Given the description of an element on the screen output the (x, y) to click on. 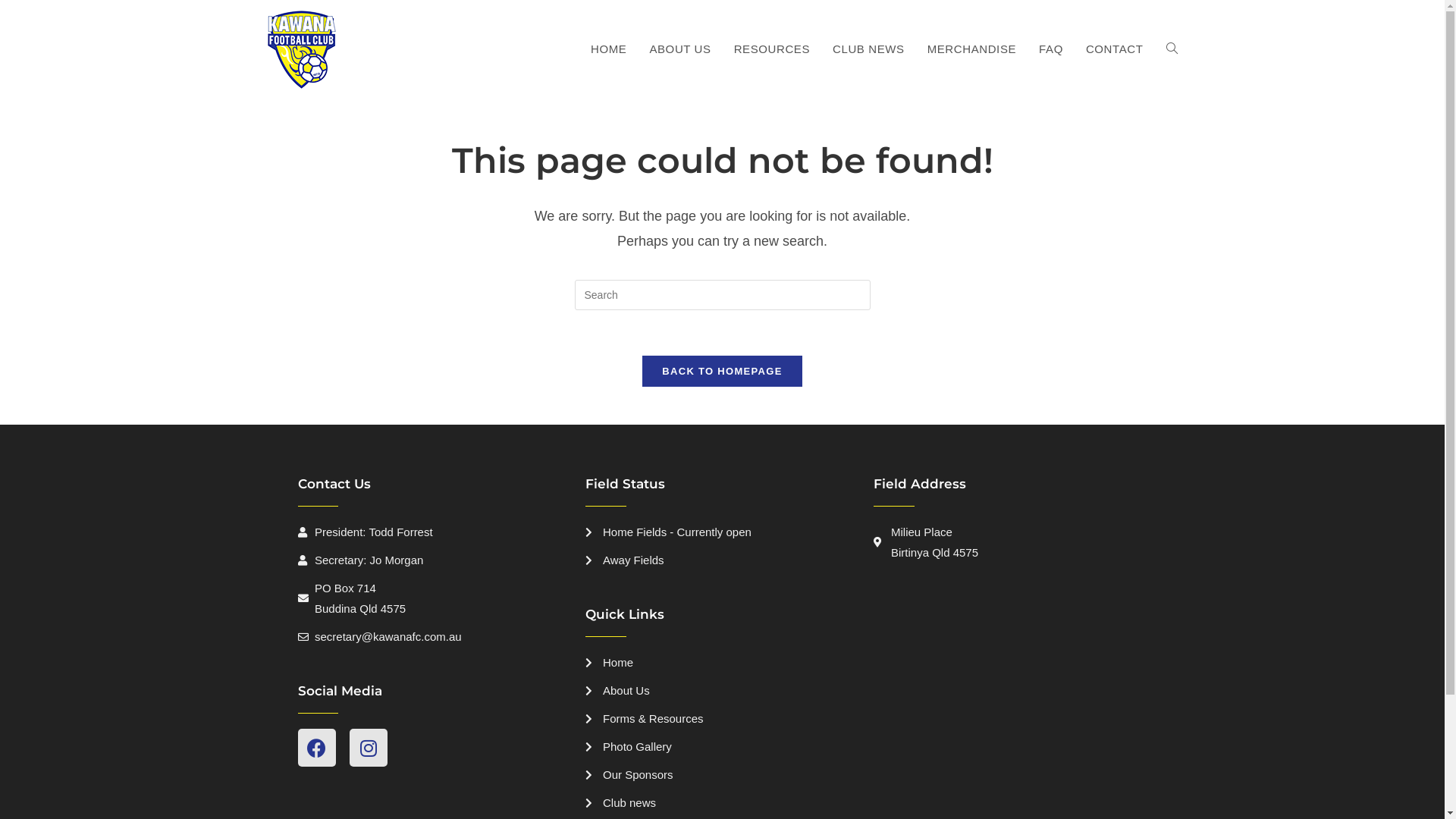
FAQ Element type: text (1050, 49)
CONTACT Element type: text (1114, 49)
About Us Element type: text (721, 690)
BACK TO HOMEPAGE Element type: text (721, 370)
Away Fields Element type: text (721, 559)
MERCHANDISE Element type: text (971, 49)
HOME Element type: text (608, 49)
Club news Element type: text (721, 802)
Our Sponsors Element type: text (721, 774)
RESOURCES Element type: text (771, 49)
ABOUT US Element type: text (679, 49)
Forms & Resources Element type: text (721, 718)
Photo Gallery Element type: text (721, 746)
Home Element type: text (721, 662)
CLUB NEWS Element type: text (868, 49)
Home Fields - Currently open Element type: text (721, 531)
secretary@kawanafc.com.au Element type: text (433, 636)
